Given the description of an element on the screen output the (x, y) to click on. 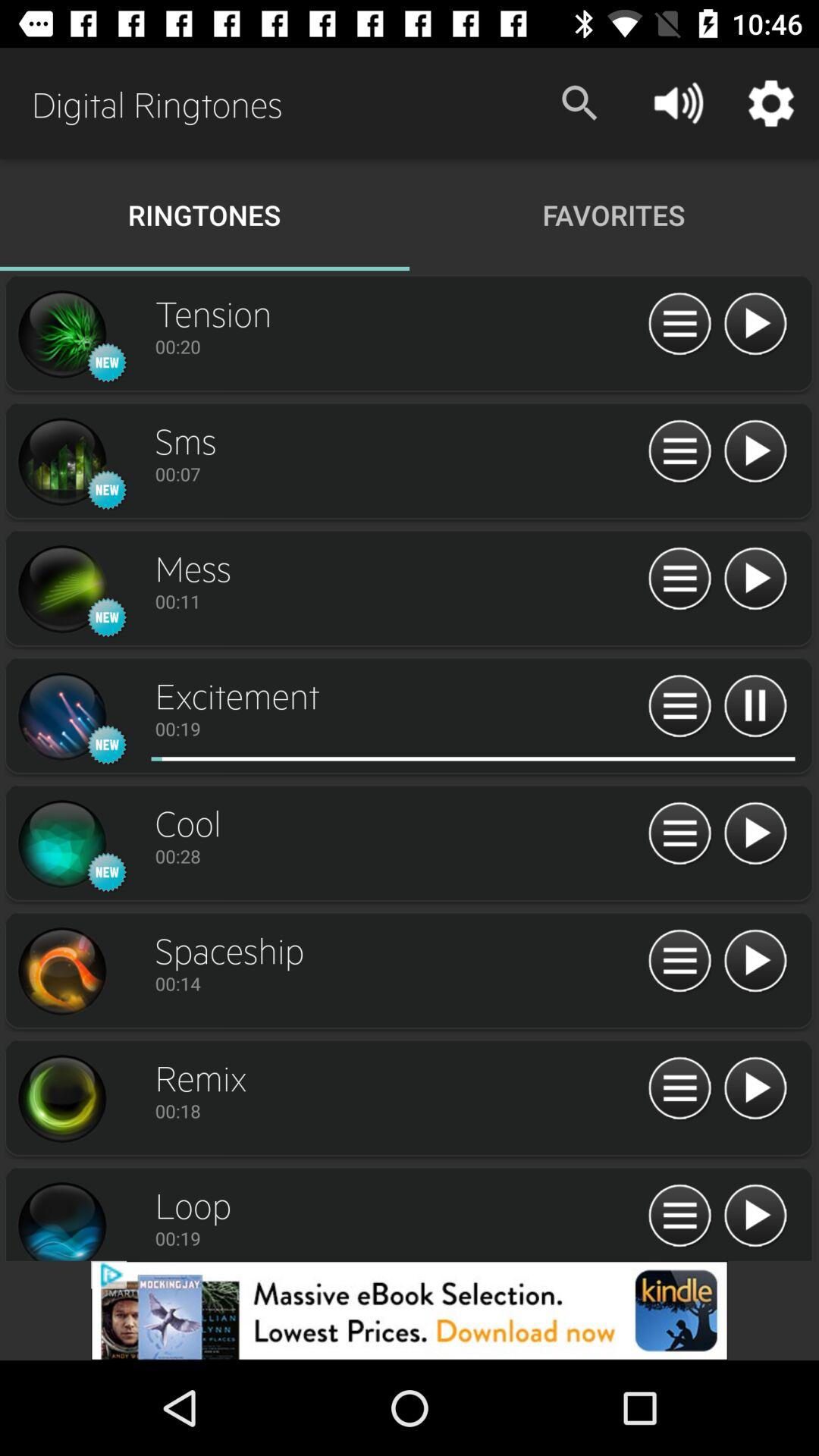
menu icon (679, 579)
